Given the description of an element on the screen output the (x, y) to click on. 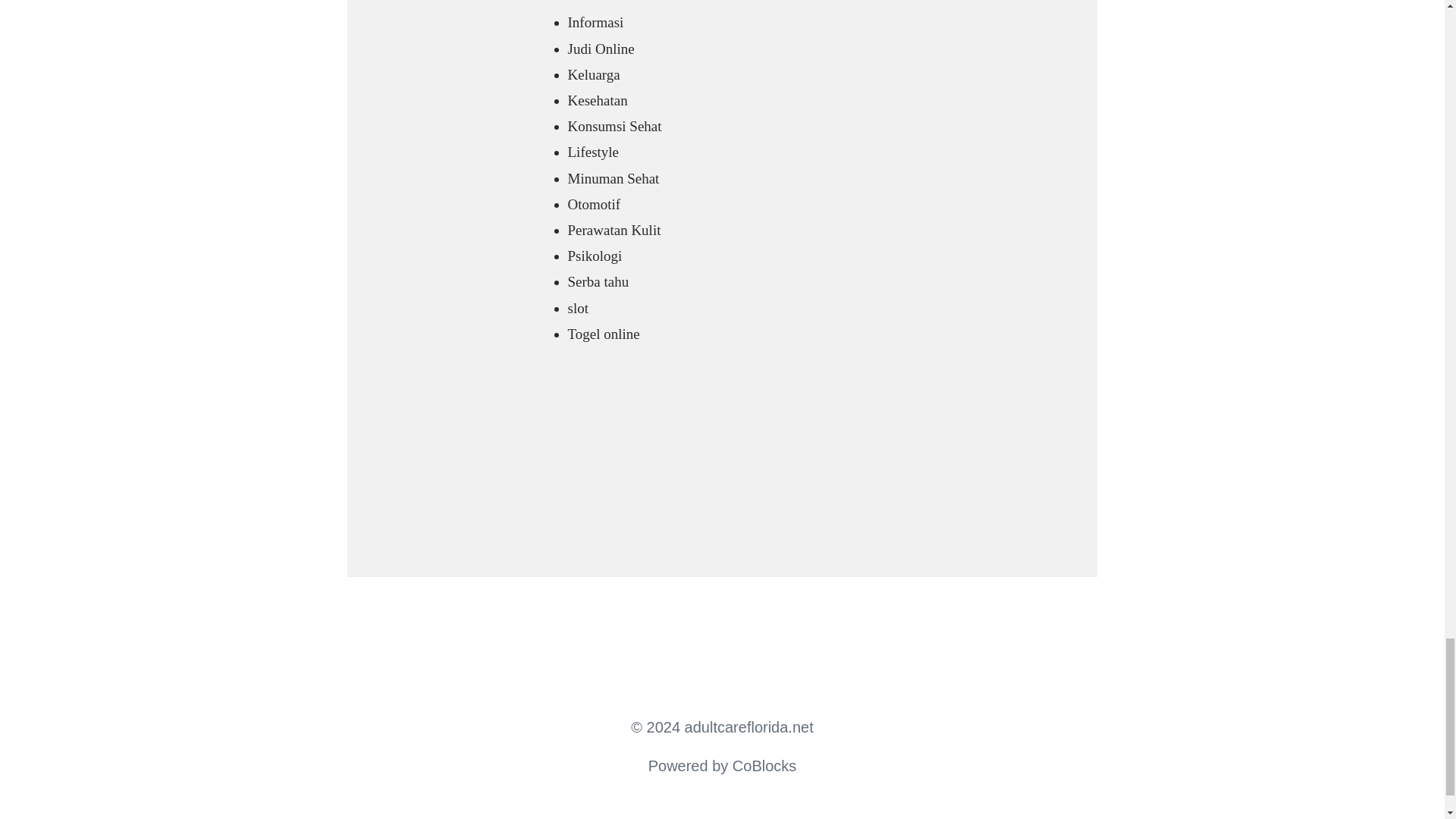
DMCA.com Protection Status (592, 494)
